Given the description of an element on the screen output the (x, y) to click on. 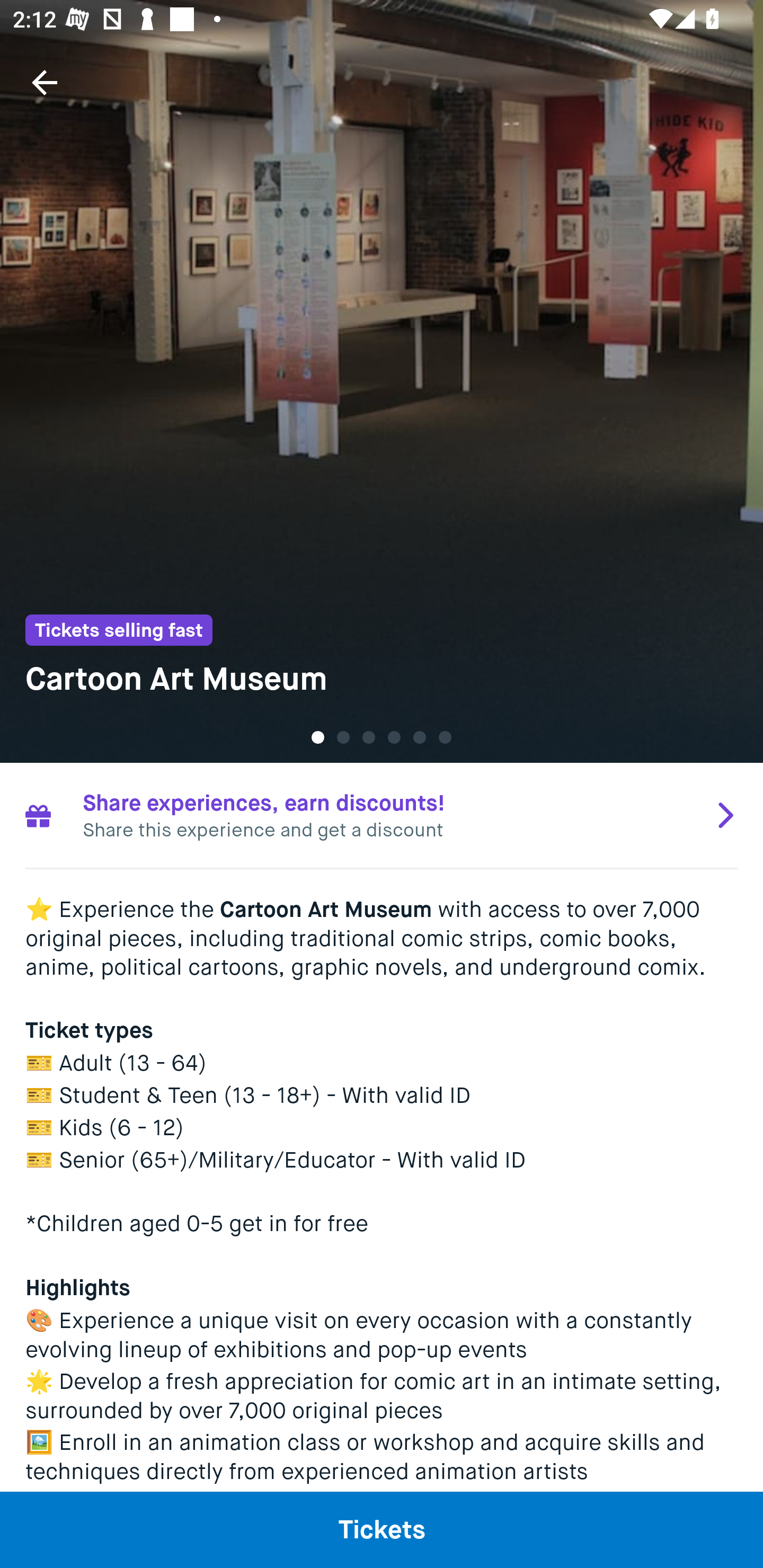
Navigate up (44, 82)
Tickets (381, 1529)
